Given the description of an element on the screen output the (x, y) to click on. 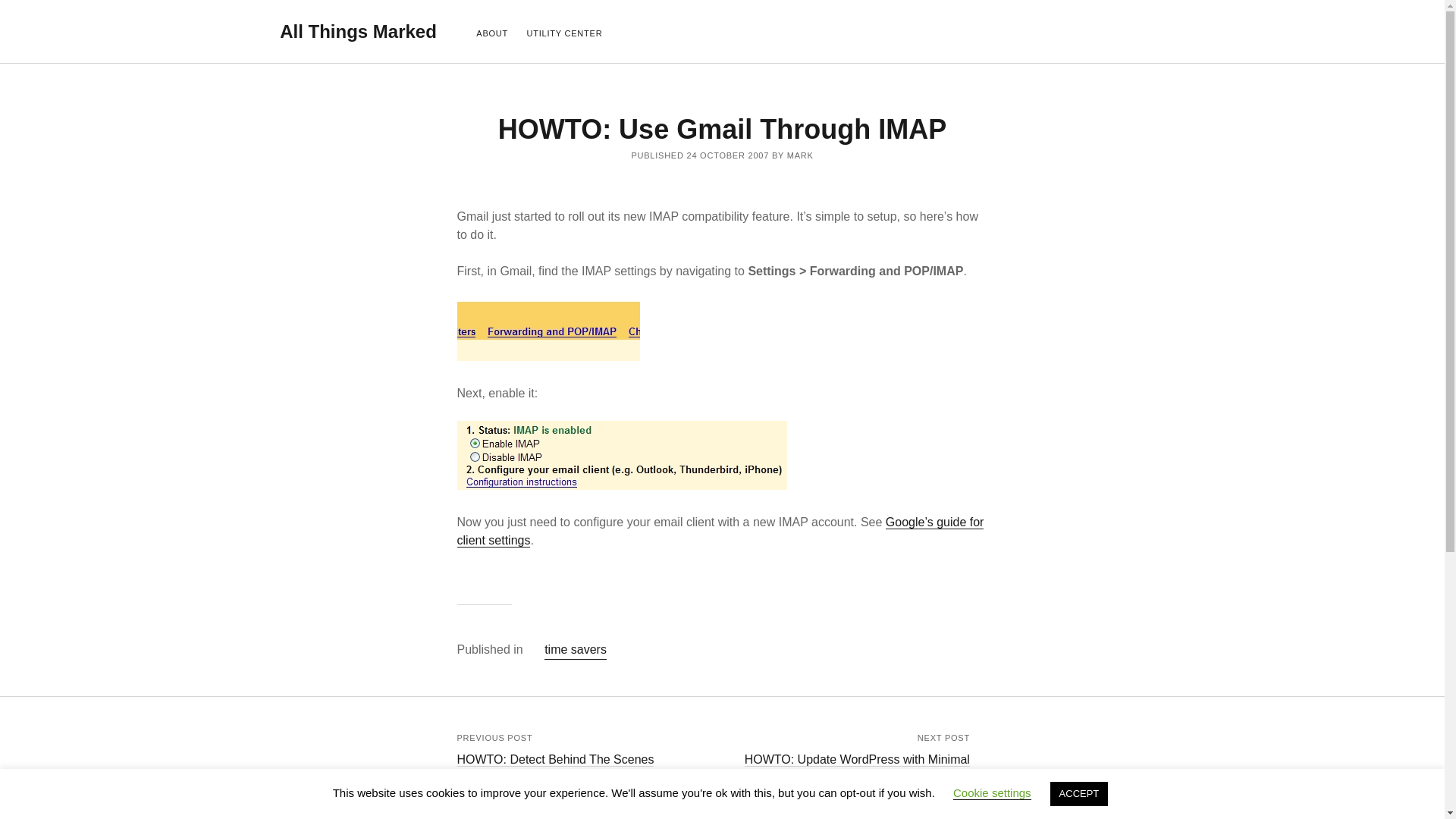
Cookie settings (991, 793)
HOWTO: Update WordPress with Minimal Downtime (856, 768)
time savers (575, 650)
All Things Marked (357, 31)
View all posts in time savers (575, 650)
HOWTO: Detect Behind The Scenes Changes to Your OS (555, 768)
ACCEPT (1078, 793)
ABOUT (492, 33)
UTILITY CENTER (564, 33)
